Given the description of an element on the screen output the (x, y) to click on. 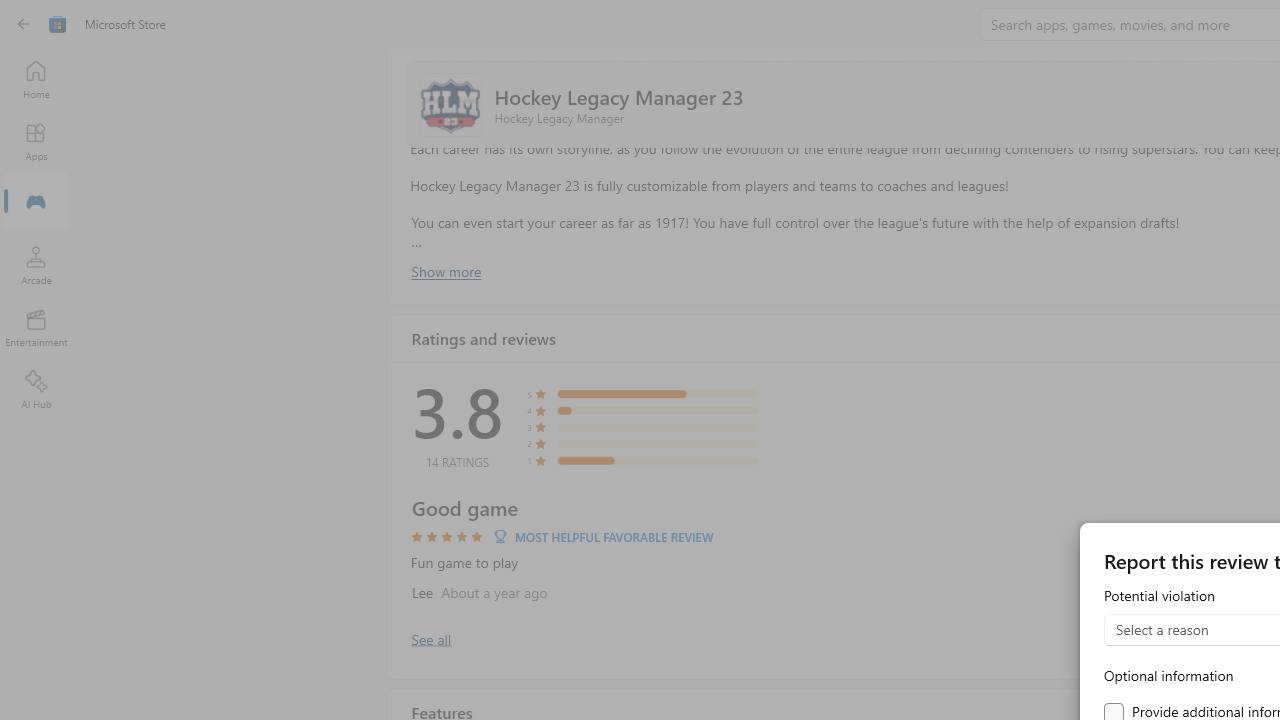
Show all ratings and reviews (430, 637)
Class: Image (58, 24)
Arcade (35, 265)
Show more (445, 271)
Apps (35, 141)
Home (35, 79)
Back (24, 24)
Gaming (35, 203)
AI Hub (35, 390)
Entertainment (35, 327)
